Given the description of an element on the screen output the (x, y) to click on. 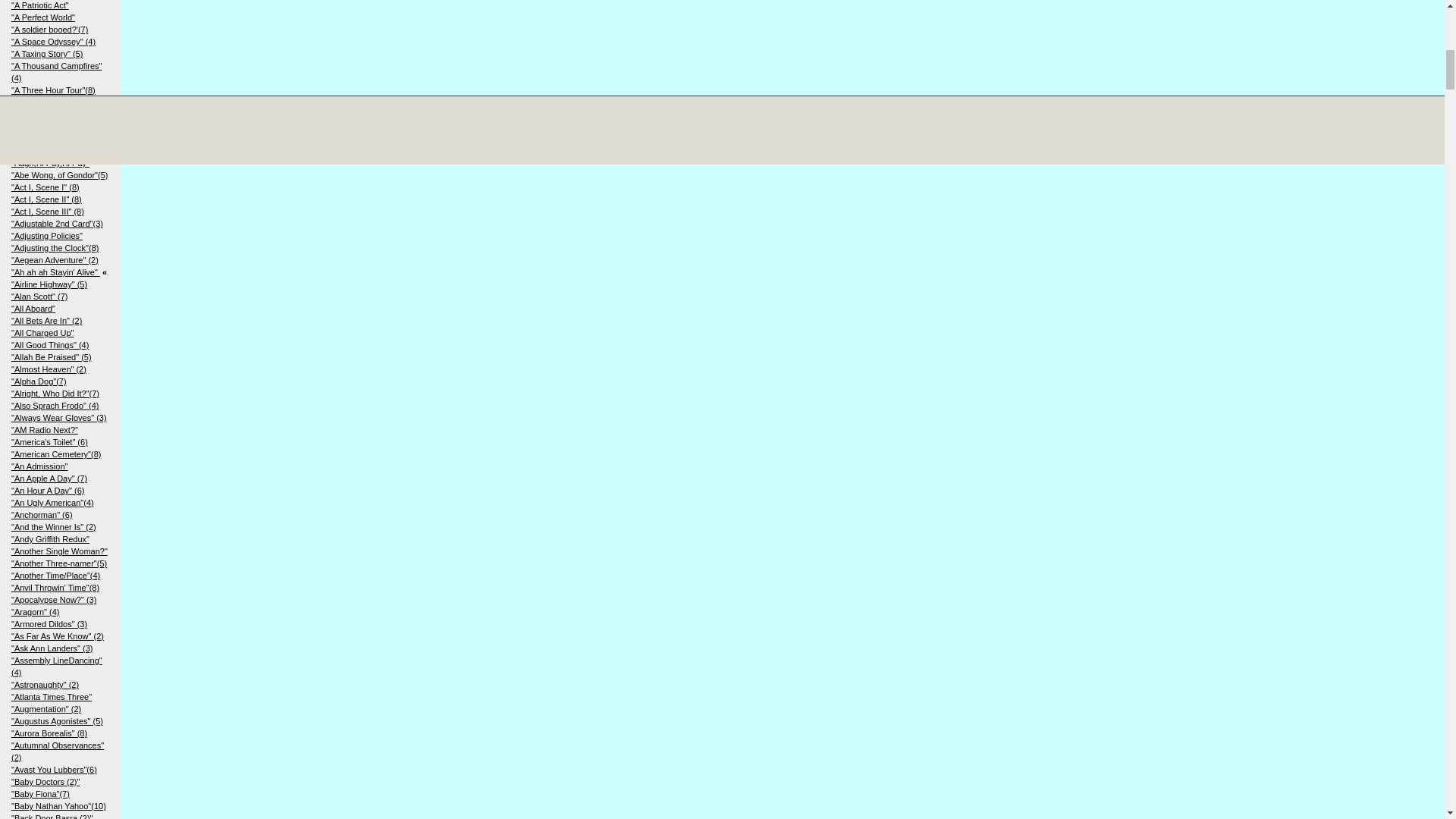
"A Patriotic Act" (39, 4)
"A Perfect World" (43, 17)
